Given the description of an element on the screen output the (x, y) to click on. 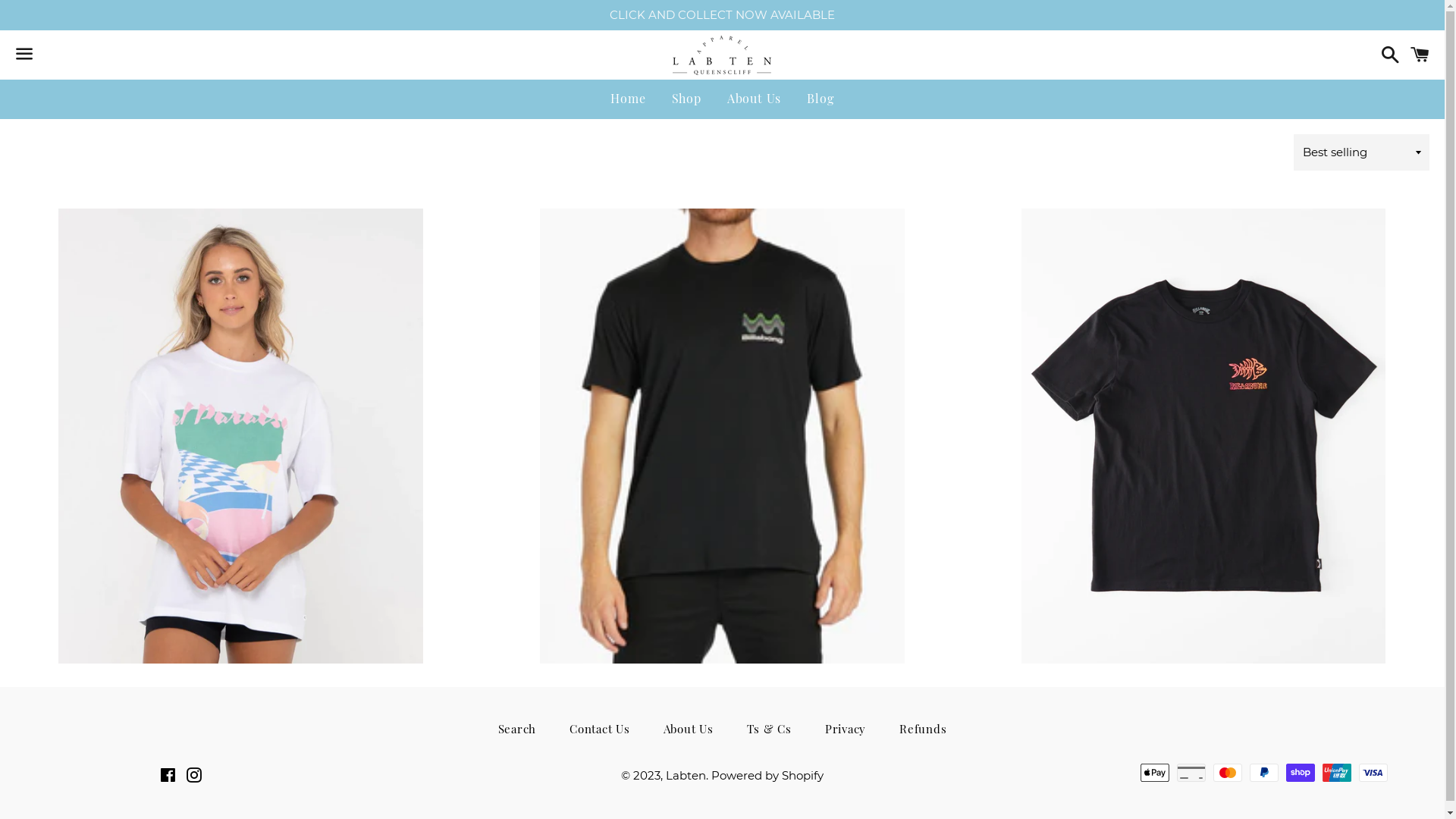
Ts & Cs Element type: text (768, 728)
Home Element type: text (627, 98)
Instagram Element type: text (193, 776)
Search Element type: text (517, 728)
Labten Element type: text (685, 775)
Cart Element type: text (1419, 54)
Refunds Element type: text (922, 728)
Powered by Shopify Element type: text (767, 775)
Menu Element type: text (24, 54)
Privacy Element type: text (845, 728)
Shop Element type: text (686, 98)
Blog Element type: text (819, 98)
About Us Element type: text (688, 728)
Facebook Element type: text (167, 776)
Contact Us Element type: text (599, 728)
About Us Element type: text (753, 98)
Search Element type: text (1386, 54)
